Given the description of an element on the screen output the (x, y) to click on. 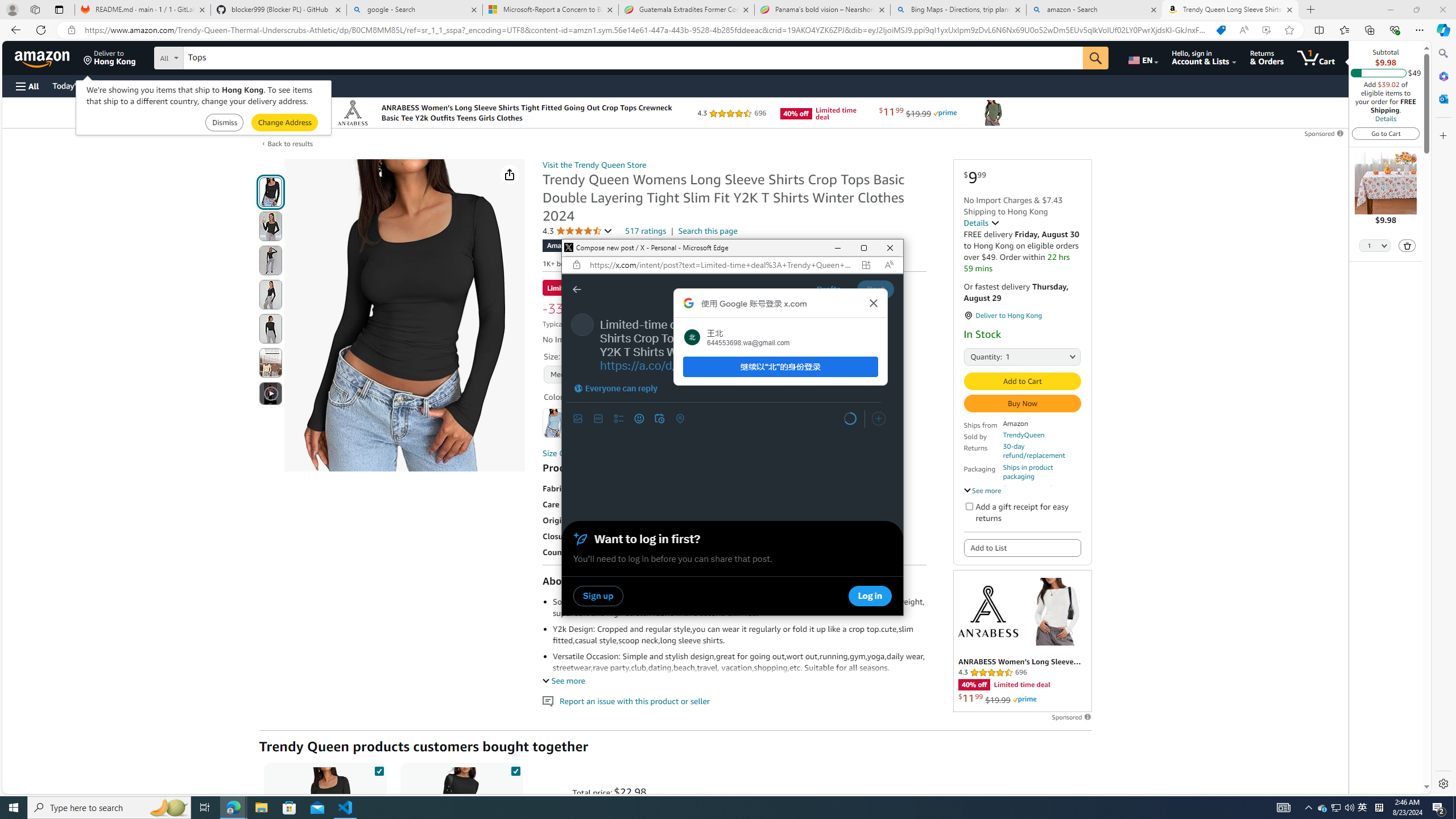
Sell (290, 85)
Add emoji (638, 418)
Action Center, 2 new notifications (1439, 807)
517 ratings (645, 230)
Search in (210, 56)
Open Menu (26, 86)
AutomationID: 4105 (1322, 807)
Delete (1283, 807)
Search highlights icon opens search home window (1407, 245)
